Given the description of an element on the screen output the (x, y) to click on. 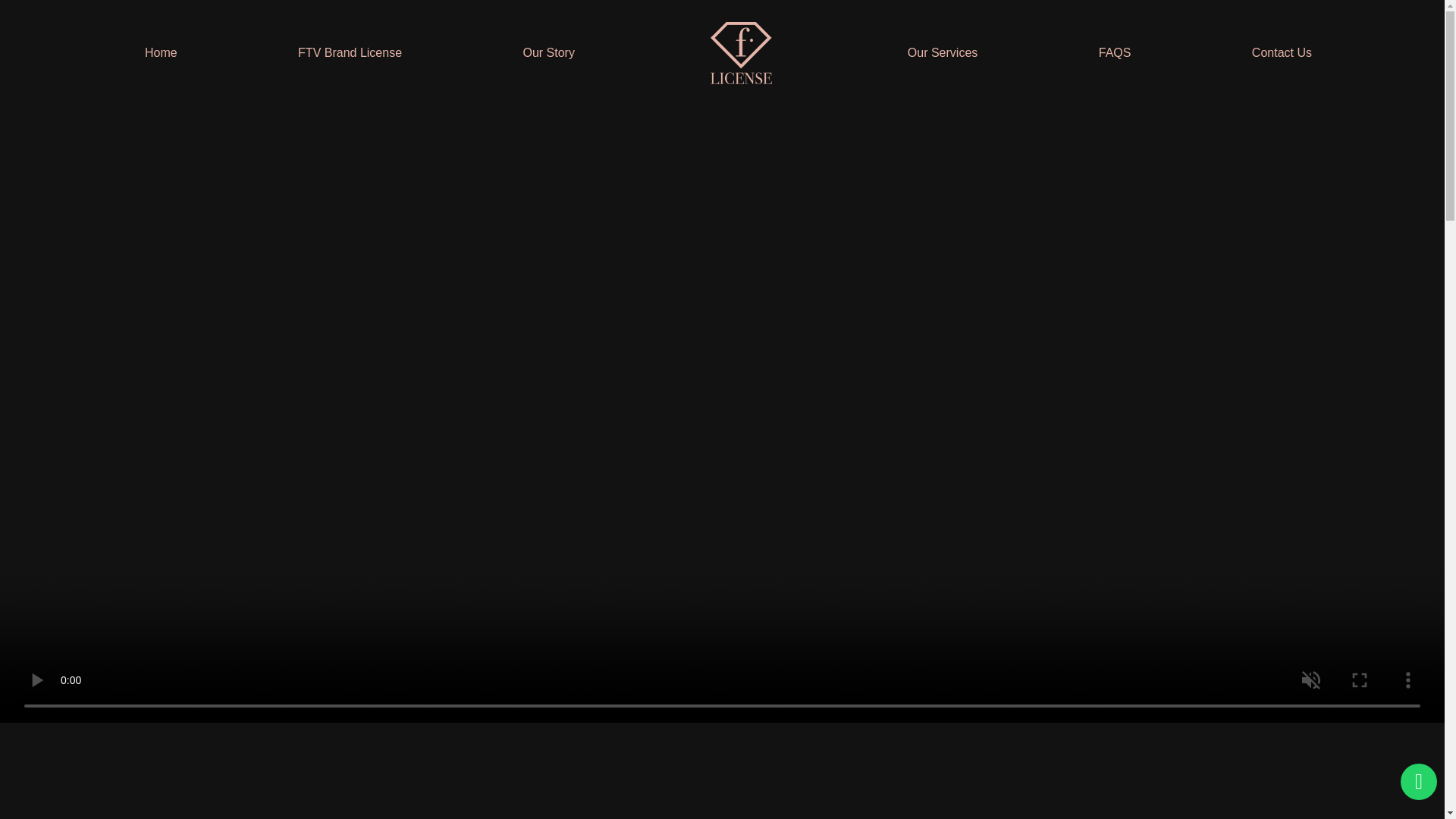
FTV Brand License (349, 52)
Our Services (942, 52)
Contact Us (1281, 52)
Our Story (547, 52)
Home (160, 52)
FAQS (1115, 52)
